Given the description of an element on the screen output the (x, y) to click on. 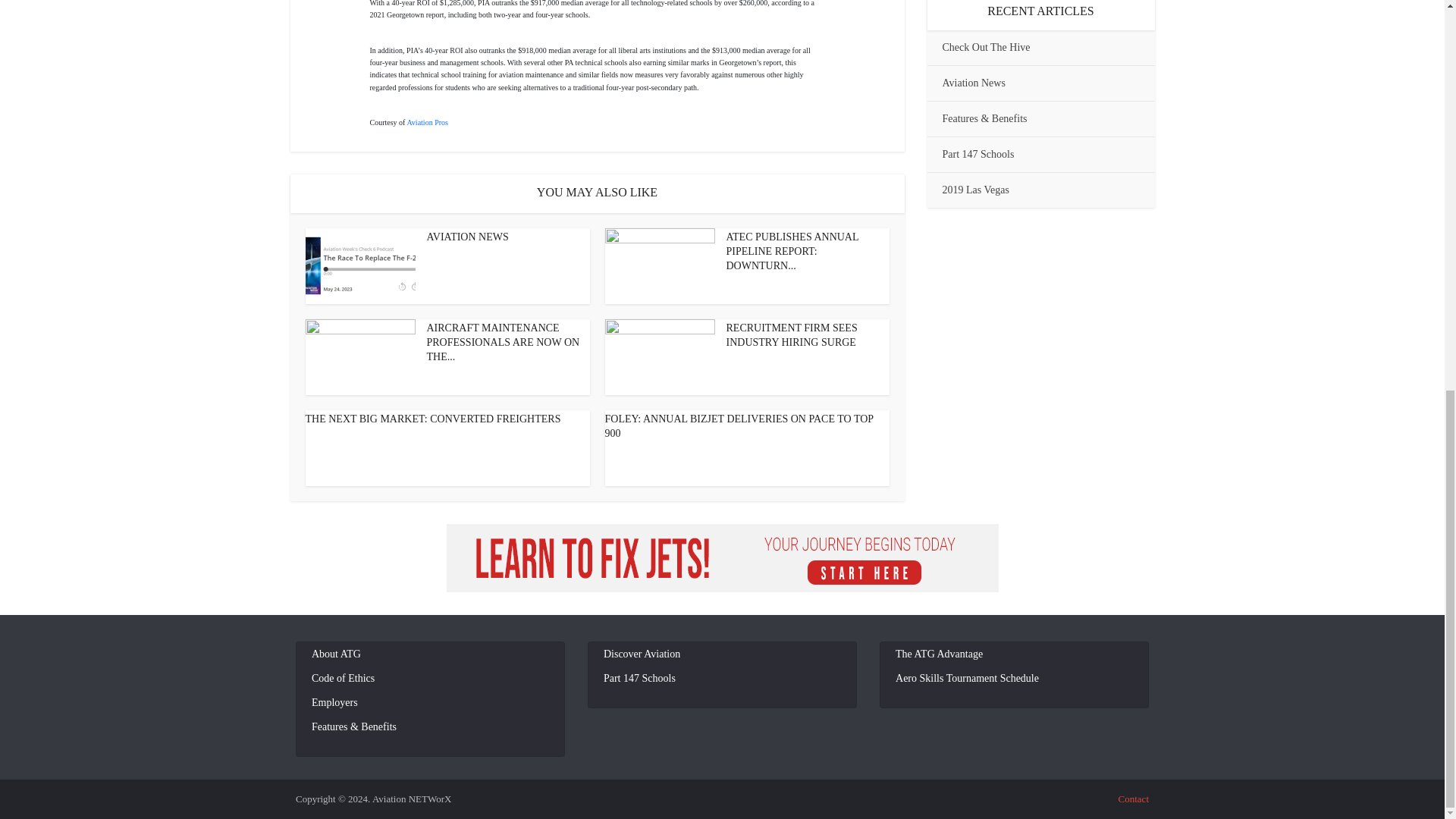
The Next Big Market: Converted Freighters (432, 419)
Recruitment Firm Sees Industry Hiring Surge (791, 335)
Foley: Annual Bizjet Deliveries On Pace To Top 900 (739, 425)
Aviation News (467, 236)
